Given the description of an element on the screen output the (x, y) to click on. 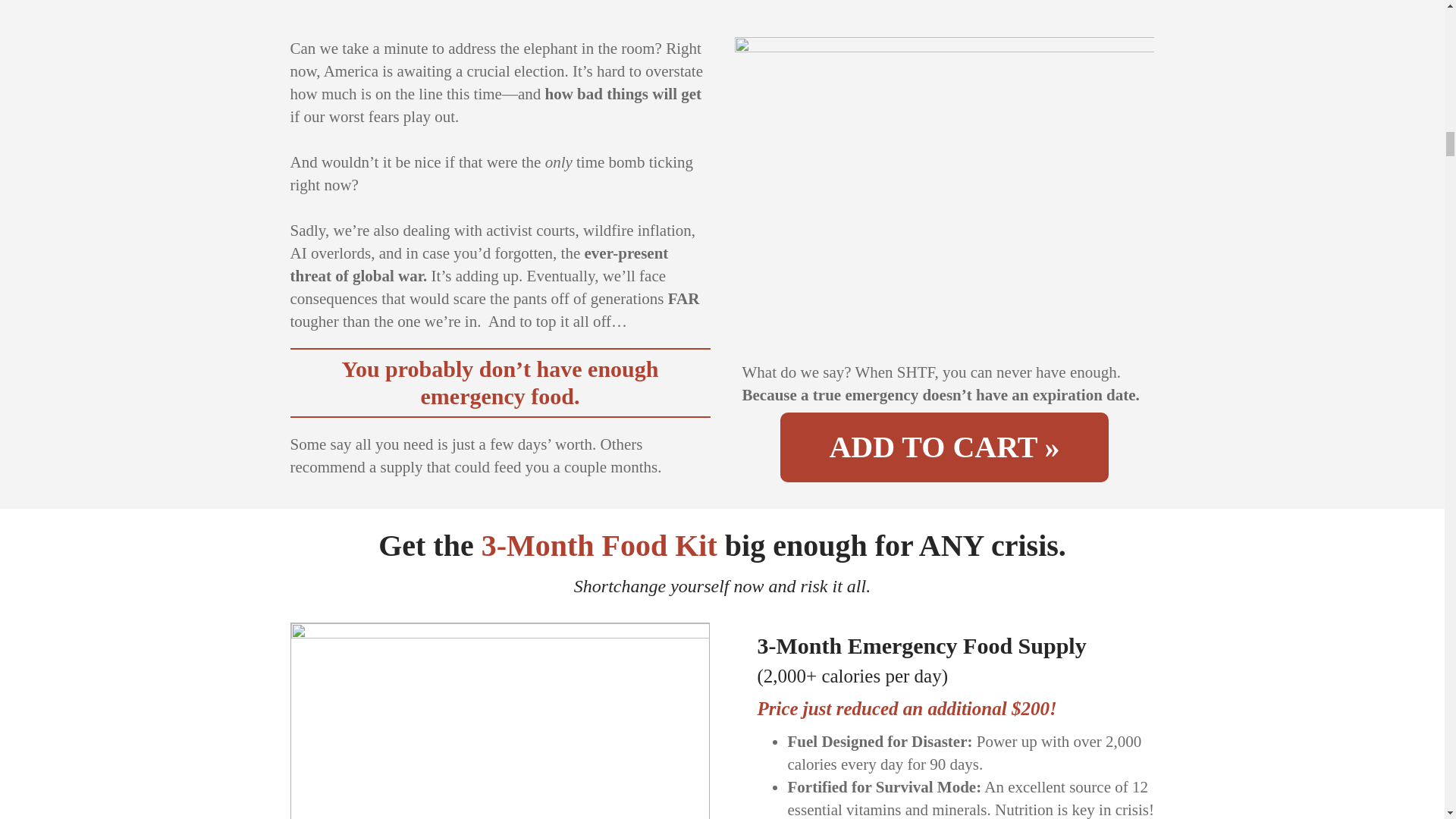
Go to the next slide Next (690, 816)
Go to the previous slide (310, 818)
Go to the previous slide Preview (310, 816)
Go to the next slide (690, 818)
